Given the description of an element on the screen output the (x, y) to click on. 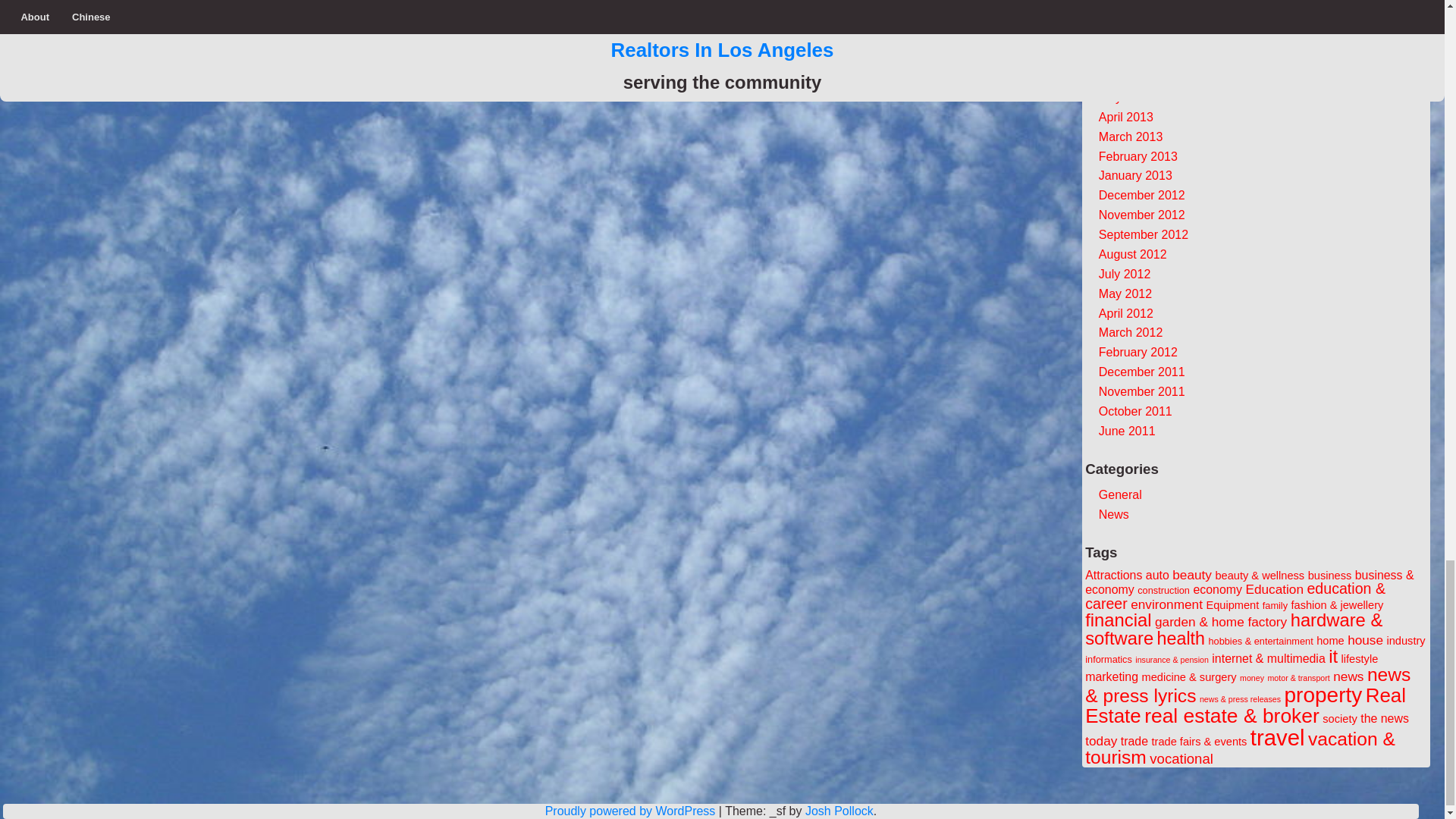
A Semantic Personal Publishing Platform (630, 810)
